Given the description of an element on the screen output the (x, y) to click on. 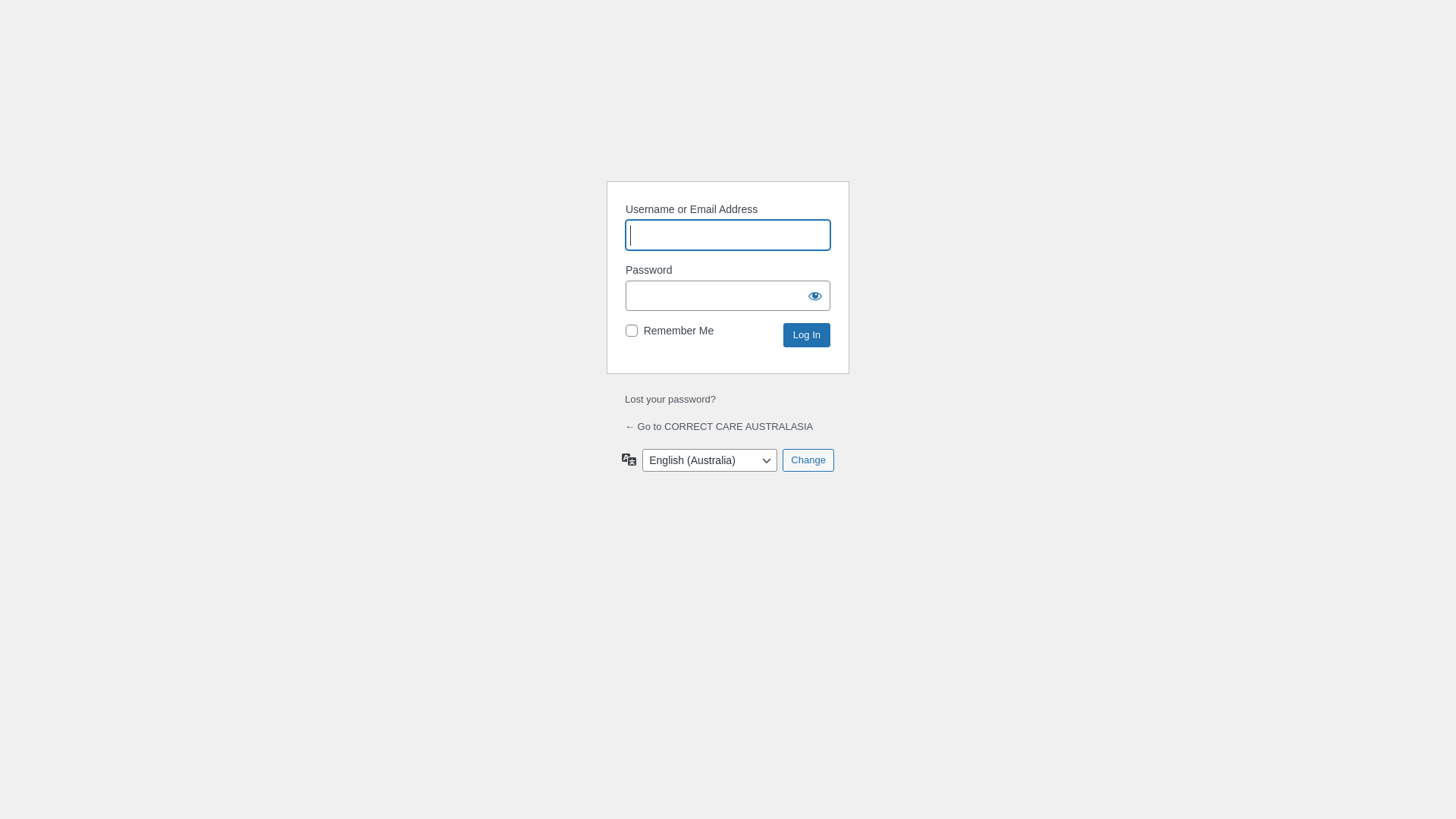
Powered by WordPress Element type: text (727, 117)
Log In Element type: text (806, 335)
Change Element type: text (808, 459)
Lost your password? Element type: text (669, 398)
